Given the description of an element on the screen output the (x, y) to click on. 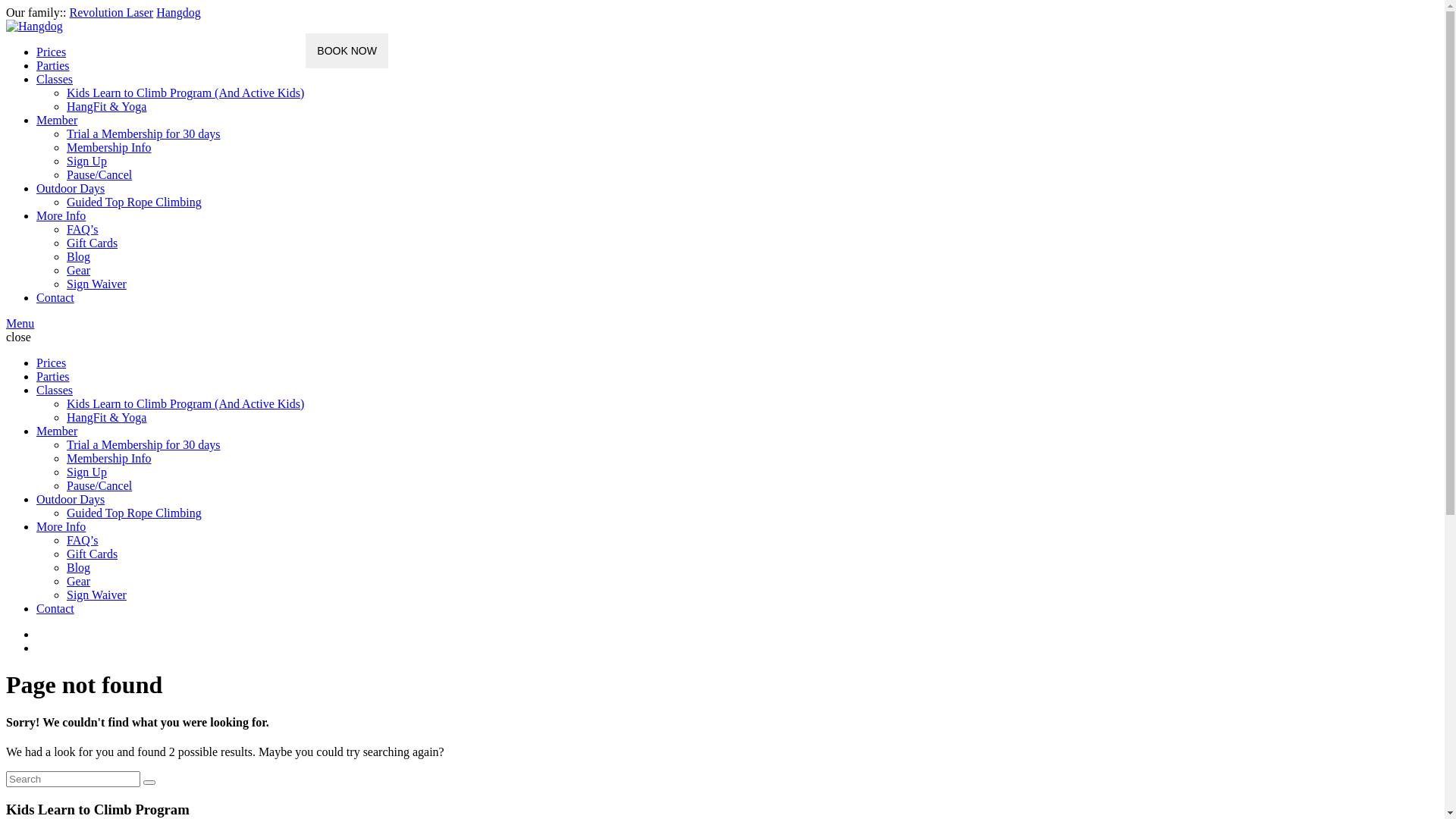
Prices Element type: text (50, 51)
Blog Element type: text (78, 567)
Parties Element type: text (52, 376)
close Element type: text (18, 336)
Kids Learn to Climb Program (And Active Kids) Element type: text (185, 92)
Guided Top Rope Climbing Element type: text (133, 201)
HangFit & Yoga Element type: text (106, 417)
Member Element type: text (56, 119)
Contact Element type: text (55, 297)
Sign Waiver Element type: text (96, 283)
Classes Element type: text (54, 78)
Menu Element type: text (20, 322)
Prices Element type: text (50, 362)
Guided Top Rope Climbing Element type: text (133, 512)
Sign Up Element type: text (86, 160)
Parties Element type: text (52, 65)
Outdoor Days Element type: text (70, 498)
Trial a Membership for 30 days Element type: text (143, 133)
Sign Up Element type: text (86, 471)
Pause/Cancel Element type: text (98, 174)
Gear Element type: text (78, 269)
Trial a Membership for 30 days Element type: text (143, 444)
Gear Element type: text (78, 580)
Membership Info Element type: text (108, 457)
Sign Waiver Element type: text (96, 594)
Pause/Cancel Element type: text (98, 485)
More Info Element type: text (60, 526)
Blog Element type: text (78, 256)
BOOK NOW Element type: text (346, 49)
Outdoor Days Element type: text (70, 188)
Contact Element type: text (55, 608)
More Info Element type: text (60, 215)
Membership Info Element type: text (108, 147)
Classes Element type: text (54, 389)
Member Element type: text (56, 430)
BOOK NOW Element type: text (346, 50)
Revolution Laser Element type: text (111, 12)
Hangdog Element type: text (178, 12)
Kids Learn to Climb Program (And Active Kids) Element type: text (185, 403)
Gift Cards Element type: text (91, 553)
HangFit & Yoga Element type: text (106, 106)
Gift Cards Element type: text (91, 242)
